Given the description of an element on the screen output the (x, y) to click on. 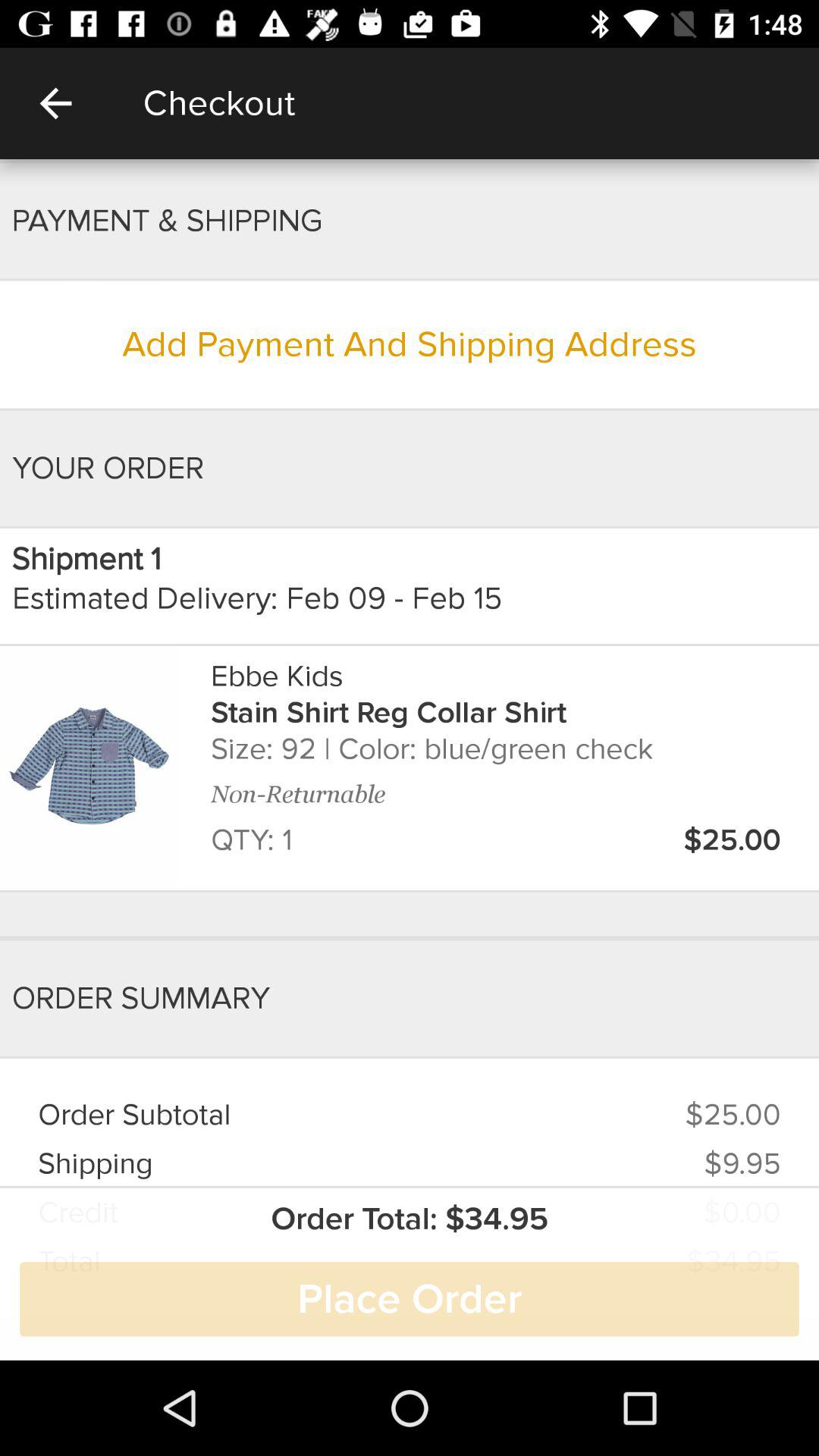
turn on the item to the left of checkout item (55, 103)
